Given the description of an element on the screen output the (x, y) to click on. 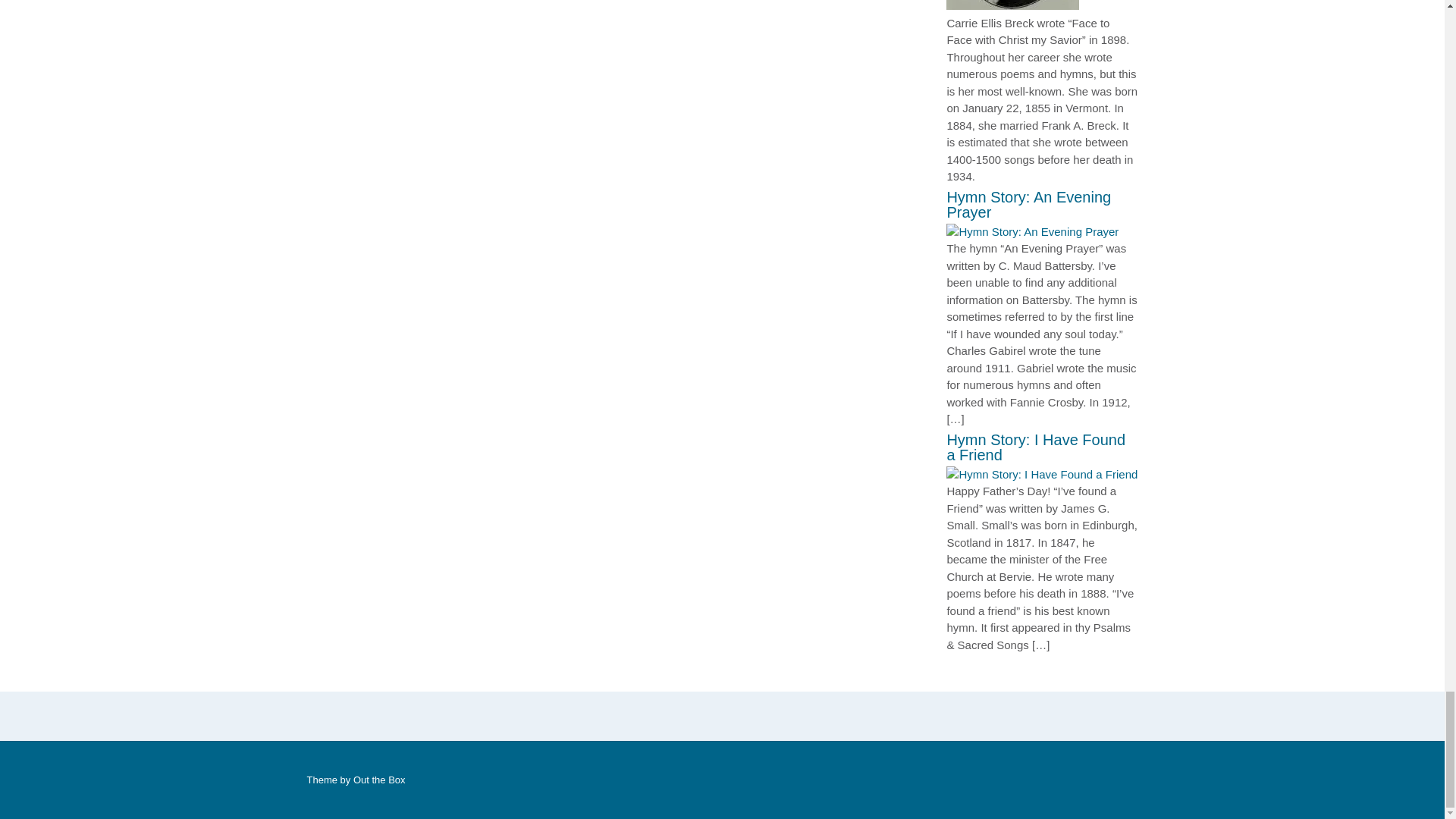
Hymn Story: Face to Face (1012, 6)
